Given the description of an element on the screen output the (x, y) to click on. 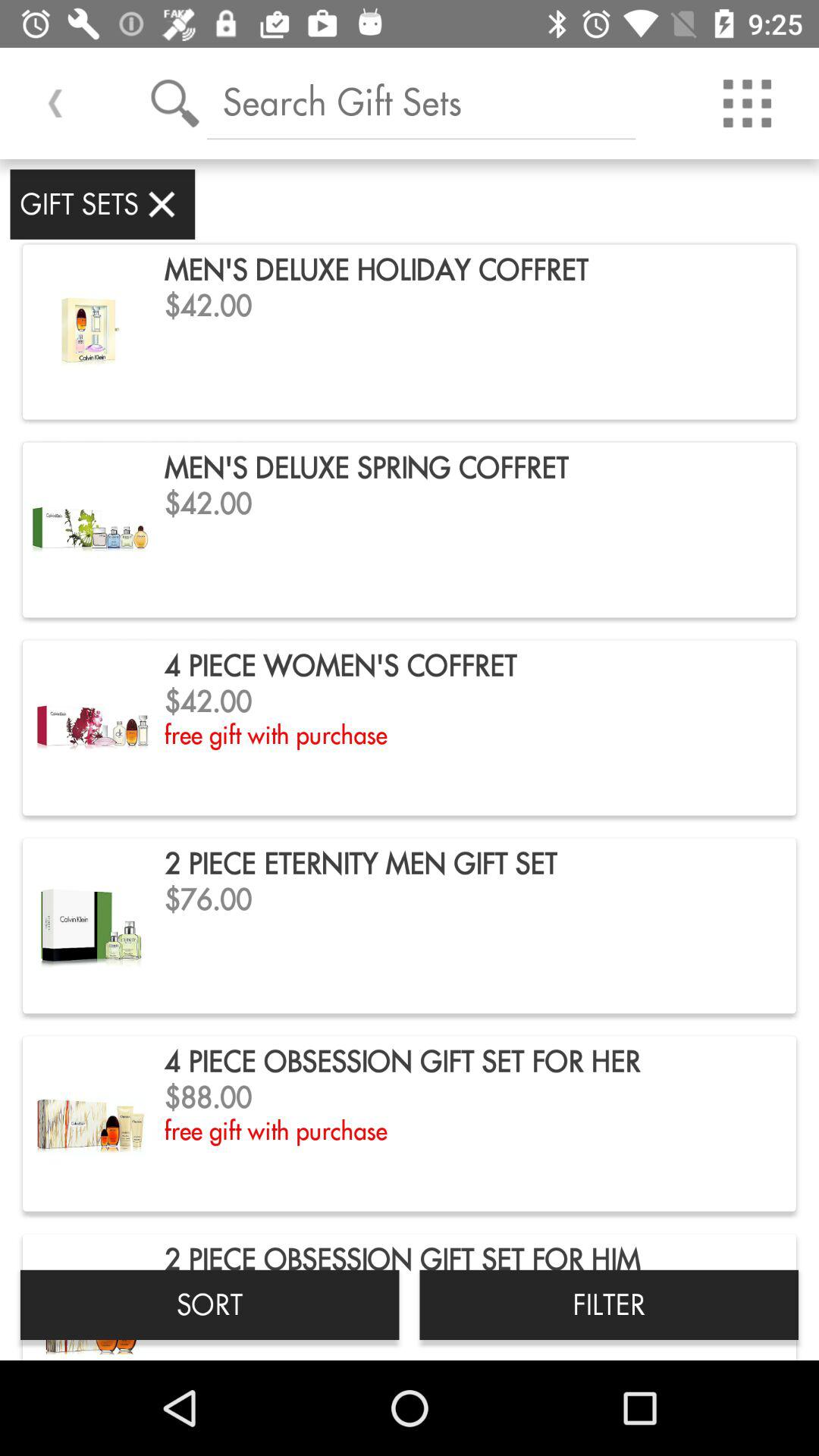
scroll to the gift sets icon (102, 204)
